Given the description of an element on the screen output the (x, y) to click on. 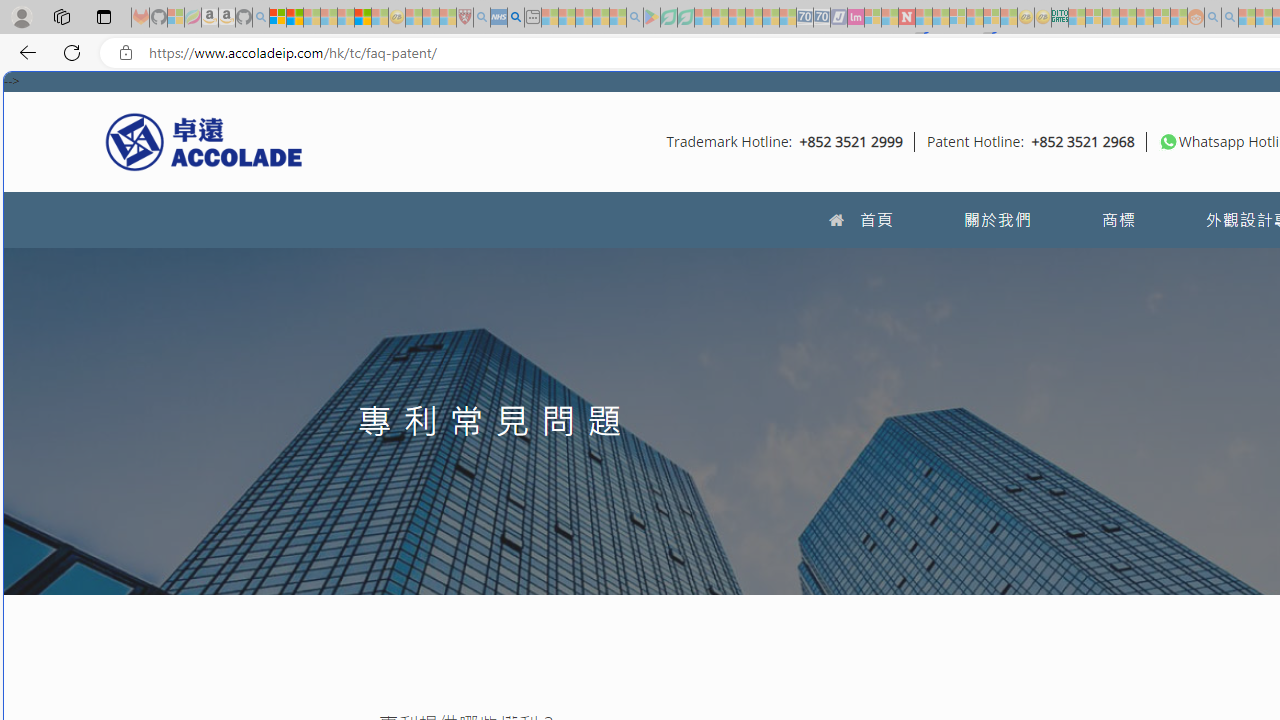
google - Search - Sleeping (634, 17)
